Given the description of an element on the screen output the (x, y) to click on. 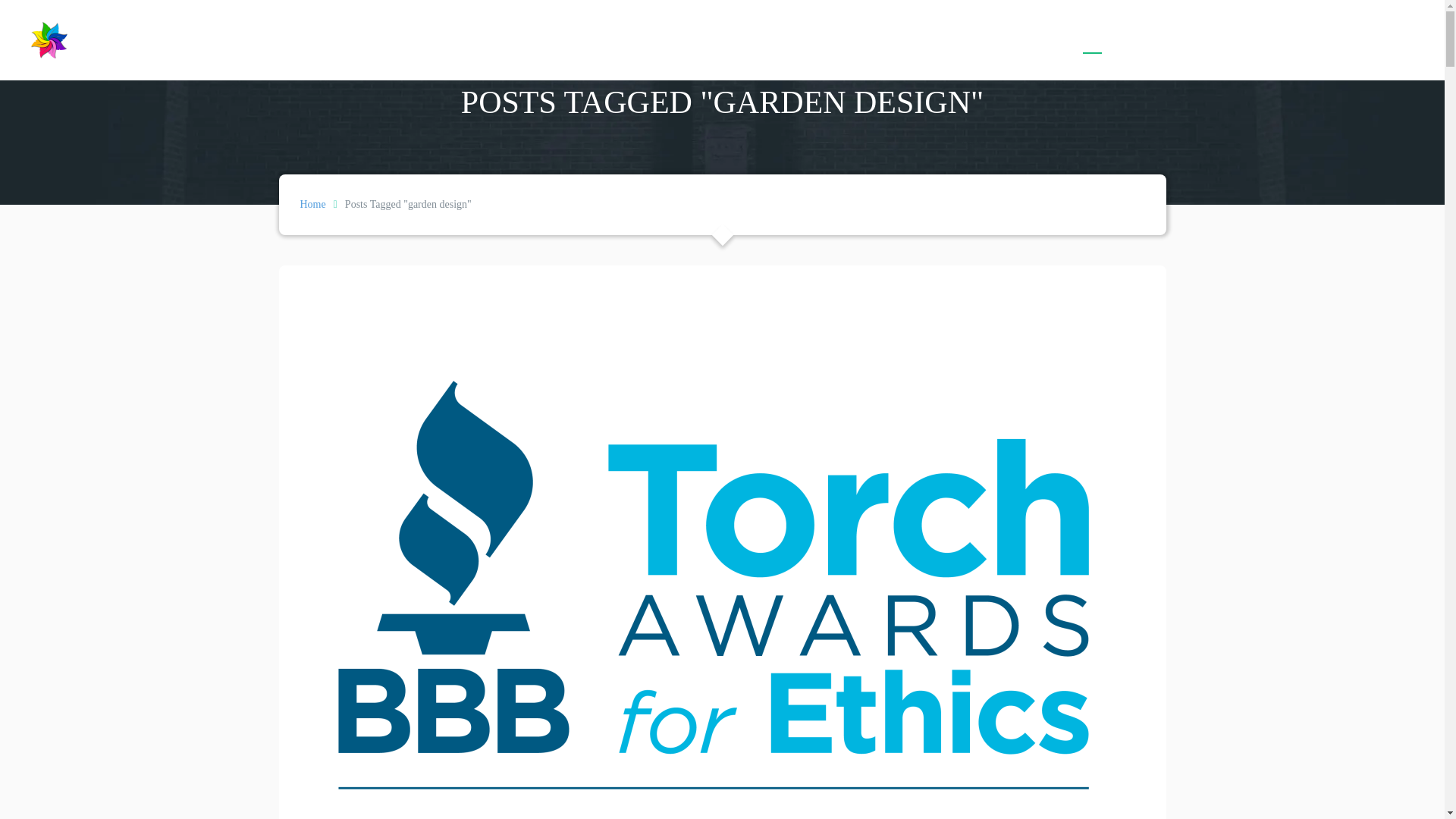
Home (312, 204)
Recent Works (1173, 40)
